Given the description of an element on the screen output the (x, y) to click on. 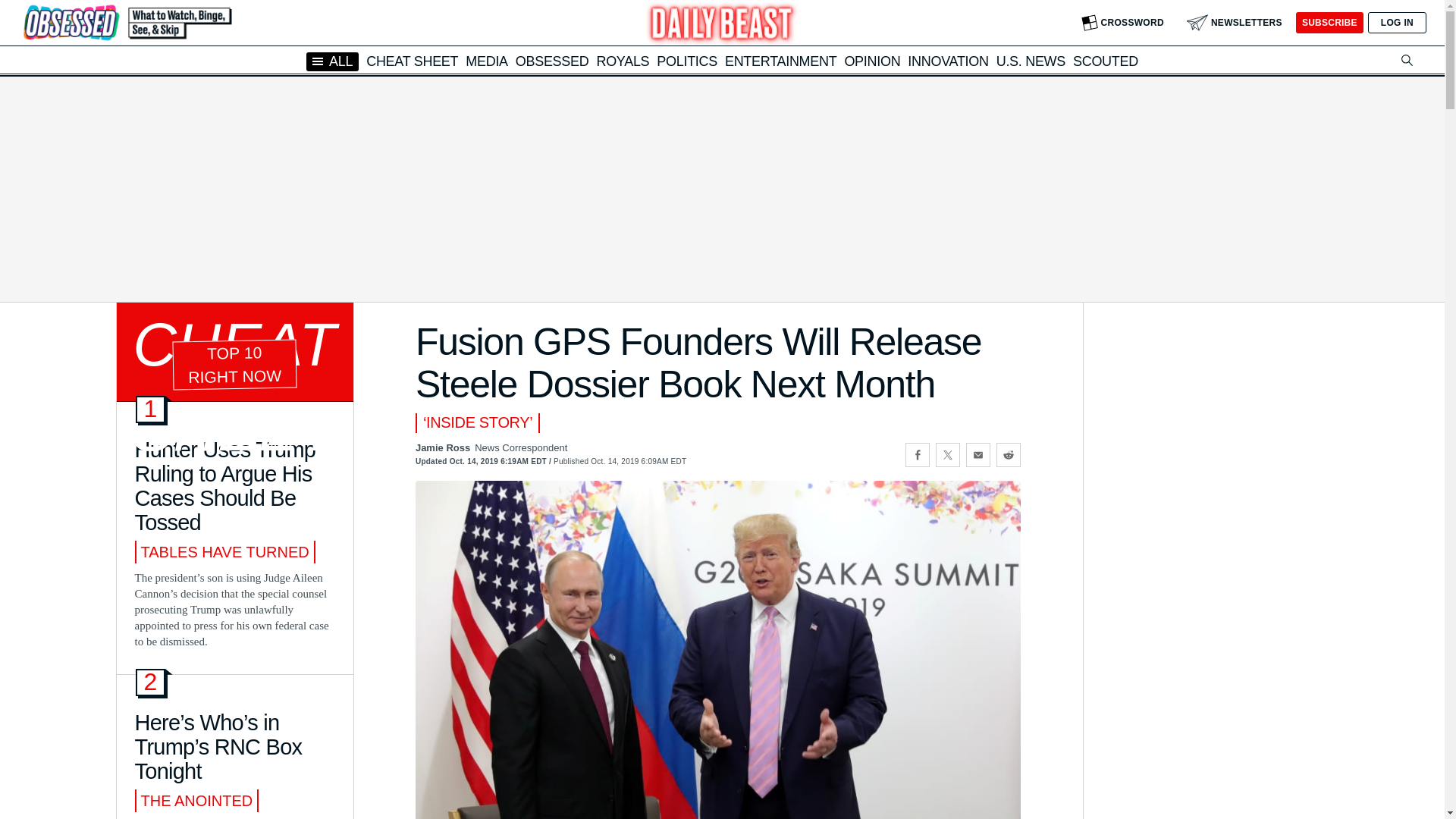
NEWSLETTERS (1234, 22)
SCOUTED (1105, 60)
CROSSWORD (1122, 22)
INNOVATION (947, 60)
ENTERTAINMENT (780, 60)
LOG IN (1397, 22)
ALL (331, 60)
OBSESSED (552, 60)
OPINION (871, 60)
CHEAT SHEET (412, 60)
SUBSCRIBE (1328, 22)
U.S. NEWS (1030, 60)
MEDIA (486, 60)
POLITICS (686, 60)
ROYALS (622, 60)
